Given the description of an element on the screen output the (x, y) to click on. 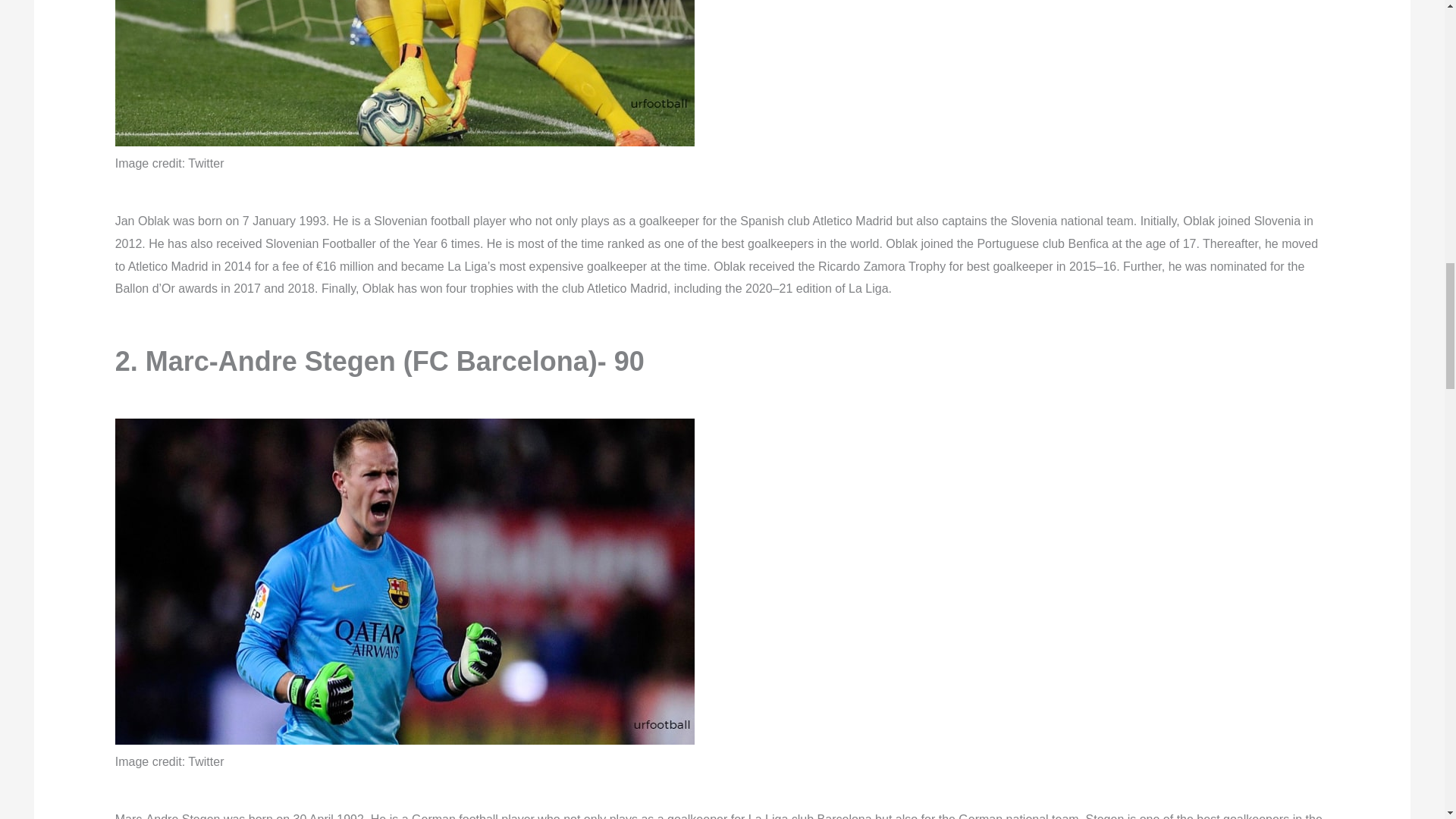
Jan Oblak Is The Best Goal Keeper In La Liga (404, 73)
